Given the description of an element on the screen output the (x, y) to click on. 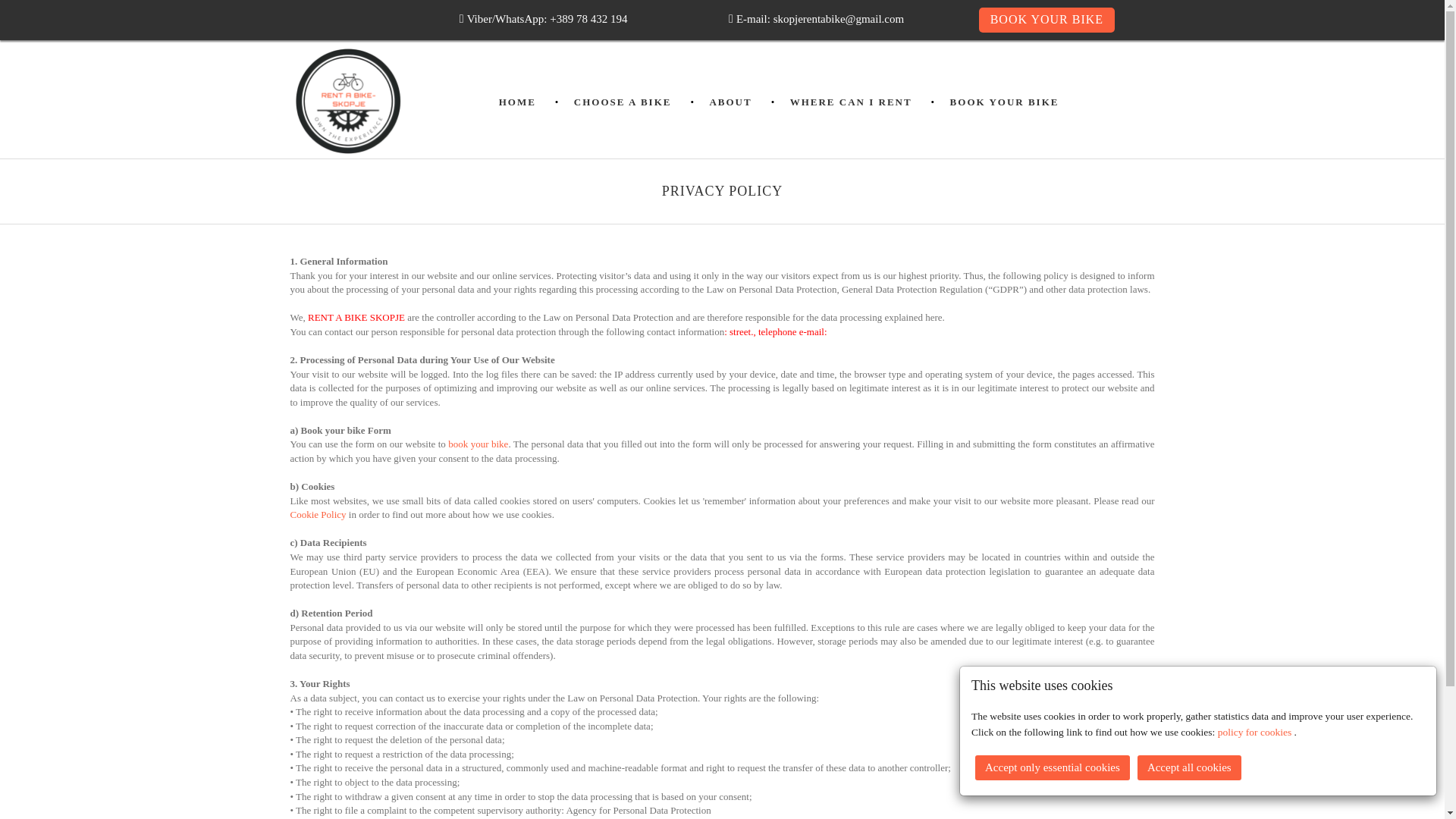
ABOUT (730, 102)
HOME (517, 102)
book your bike (478, 443)
CHOOSE A BIKE (622, 102)
Accept all cookies (1189, 767)
BOOK YOUR BIKE (1004, 102)
WHERE CAN I RENT (851, 102)
Cookie Policy (317, 514)
policy for cookies (1255, 731)
BOOK YOUR BIKE (1046, 19)
Accept only essential cookies (1052, 767)
